Given the description of an element on the screen output the (x, y) to click on. 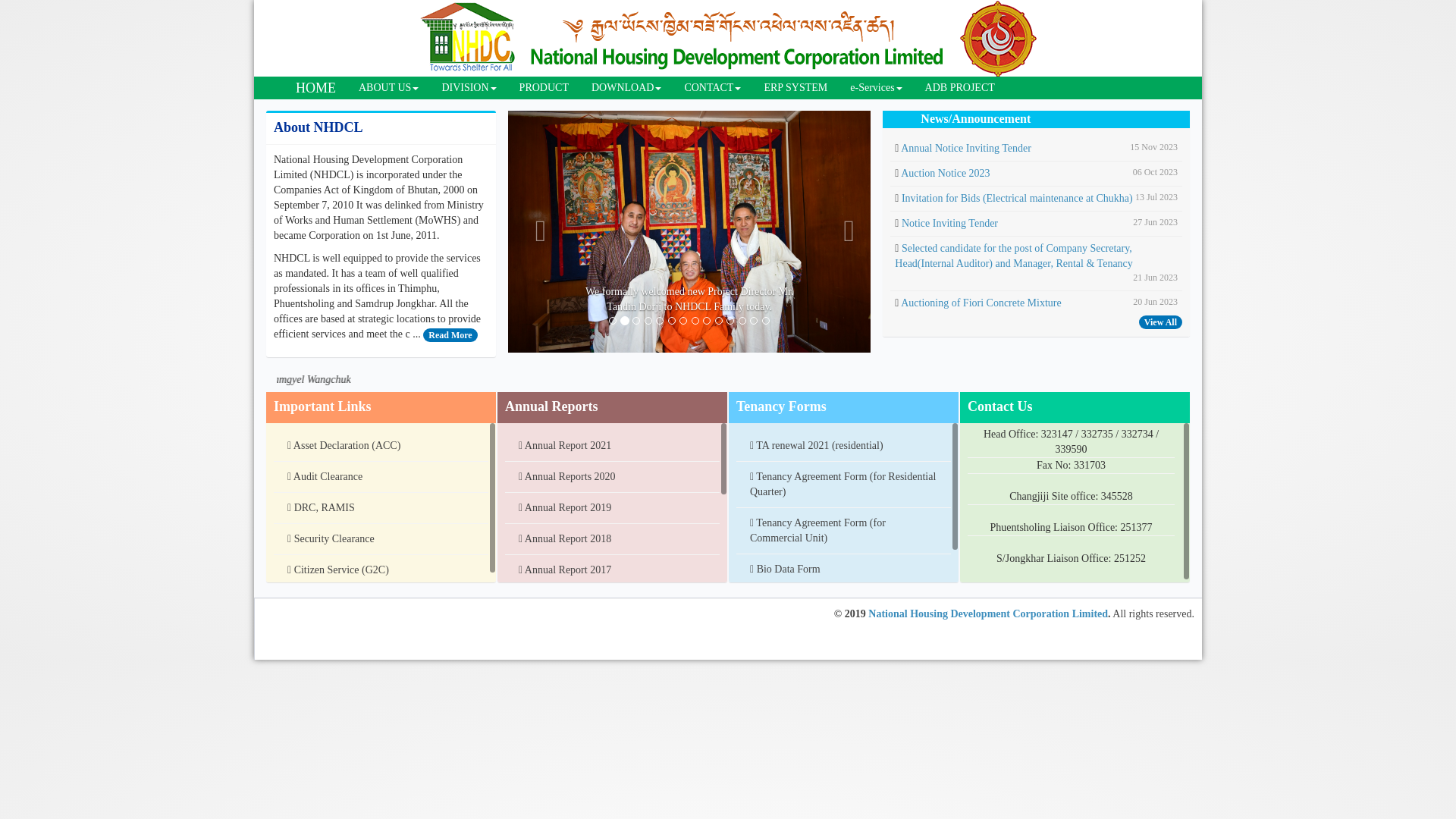
Read More Element type: text (449, 333)
Auctioning of Fiori Concrete Mixture Element type: text (980, 302)
Tenancy Agreement Form (for Residential Quarter) Element type: text (843, 484)
ERP SYSTEM Element type: text (795, 87)
PRODUCT Element type: text (544, 87)
DRC, RAMIS Element type: text (380, 507)
Security Clearance Element type: text (380, 539)
Invitation for Bids (Electrical maintenance at Chukha) Element type: text (1016, 197)
Annual Notice Inviting Tender Element type: text (965, 147)
Annual Report 2017 Element type: text (612, 570)
DIVISION Element type: text (468, 87)
Audit Clearance Element type: text (380, 476)
CONTACT Element type: text (712, 87)
National Housing Development Corporation Limited Element type: text (987, 613)
Annual Report 2019 Element type: text (612, 507)
Bio Data Form Element type: text (843, 569)
ADB PROJECT Element type: text (959, 87)
Notice Inviting Tender Element type: text (949, 223)
Citizen Service (G2C) Element type: text (380, 570)
e-Services Element type: text (875, 87)
ABOUT US Element type: text (388, 87)
DOWNLOAD Element type: text (626, 87)
Annual Reports 2020 Element type: text (612, 476)
TA renewal 2021 (residential) Element type: text (843, 445)
Auction Notice 2023 Element type: text (944, 172)
Annual Report 2018 Element type: text (612, 539)
Annual Report 2021 Element type: text (612, 445)
Asset Declaration (ACC) Element type: text (380, 445)
HOME Element type: text (315, 87)
Tenancy Agreement Form (for Commercial Unit) Element type: text (843, 530)
